Given the description of an element on the screen output the (x, y) to click on. 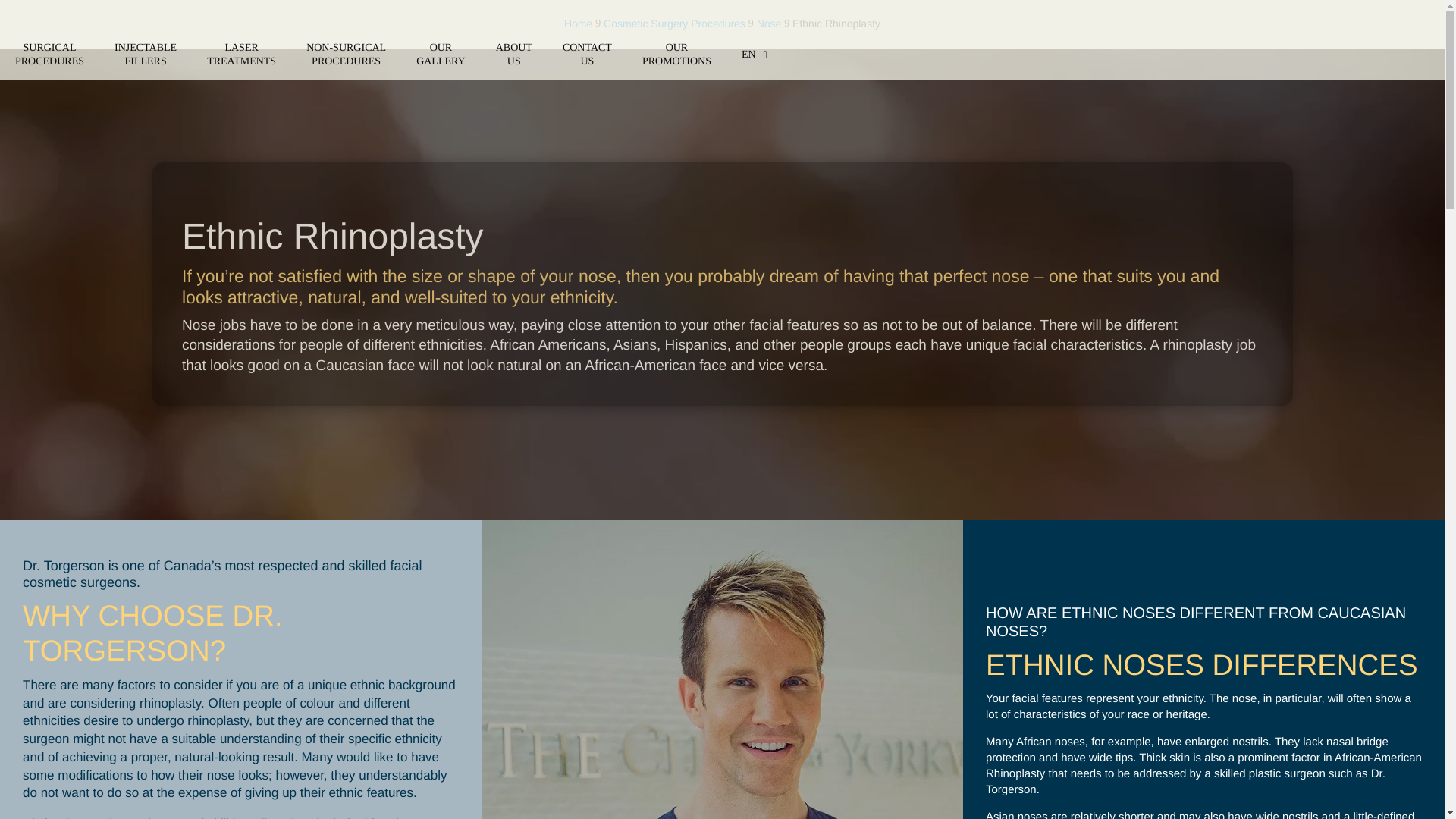
Injectable Fillers Toronto (145, 55)
